Given the description of an element on the screen output the (x, y) to click on. 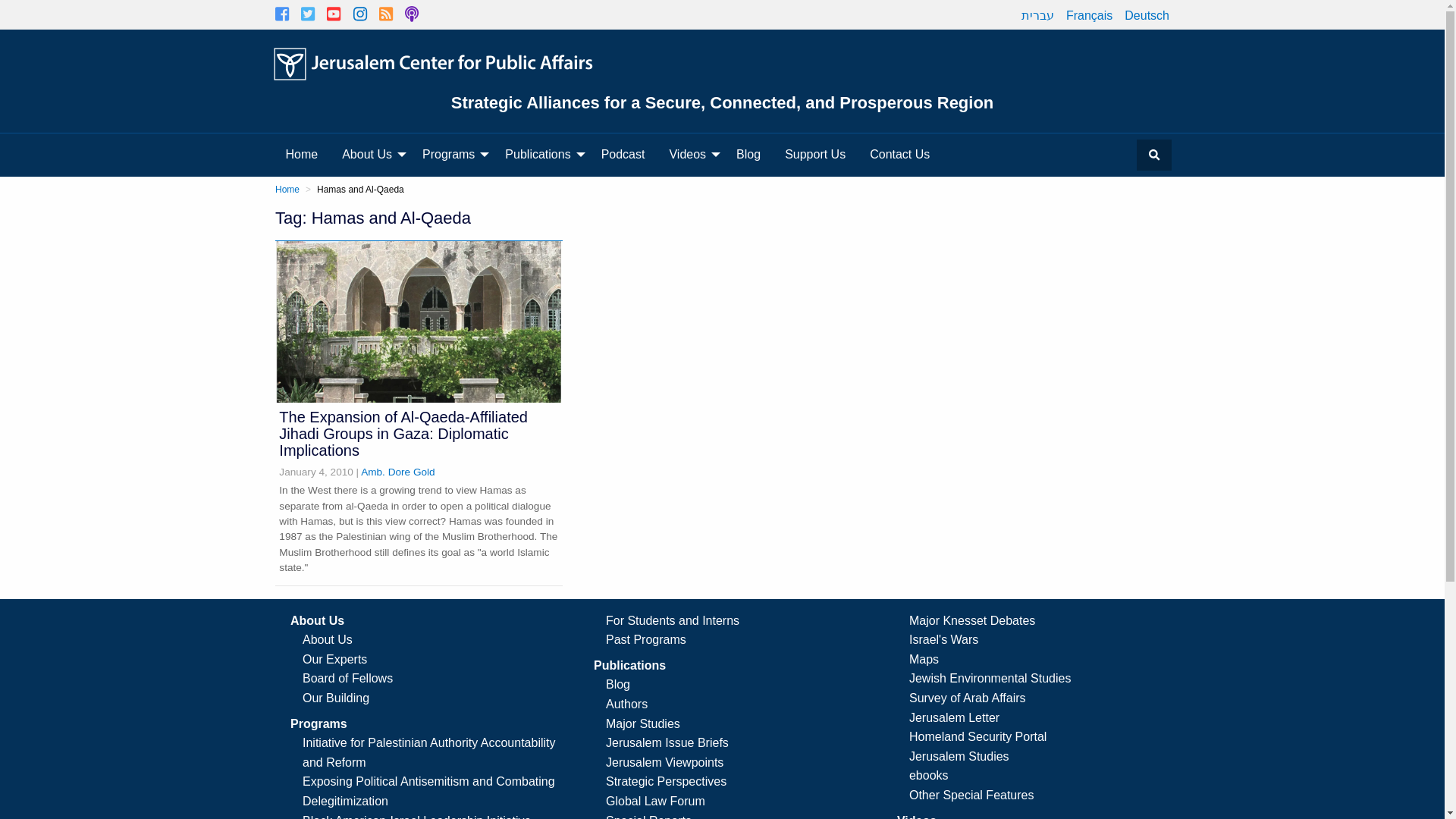
Deutsch (1146, 15)
About Us (370, 154)
Search (1153, 154)
Programs (451, 154)
Home (301, 154)
Publications (540, 154)
